Given the description of an element on the screen output the (x, y) to click on. 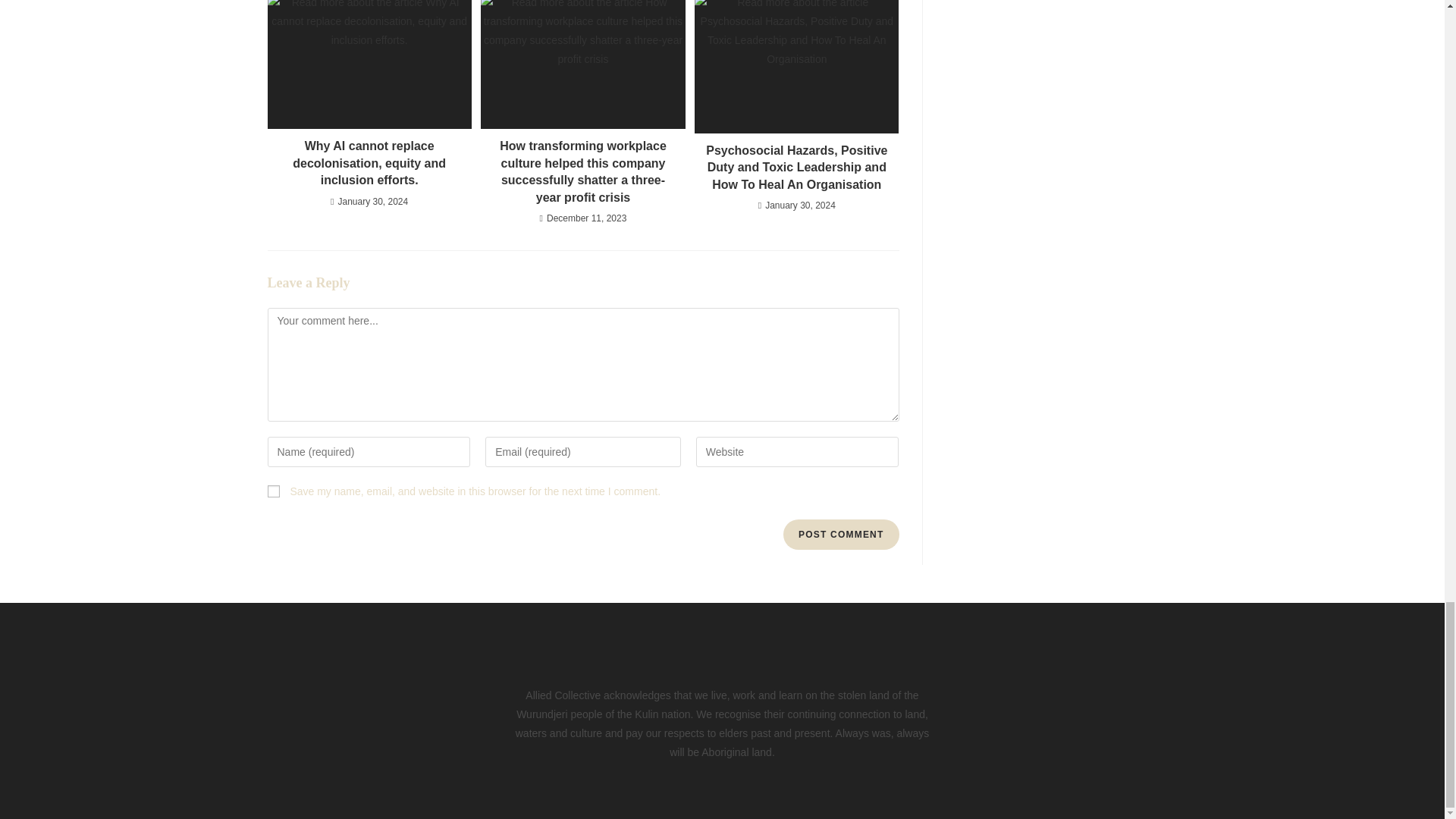
Post Comment (840, 534)
Post Comment (840, 534)
yes (272, 491)
